Given the description of an element on the screen output the (x, y) to click on. 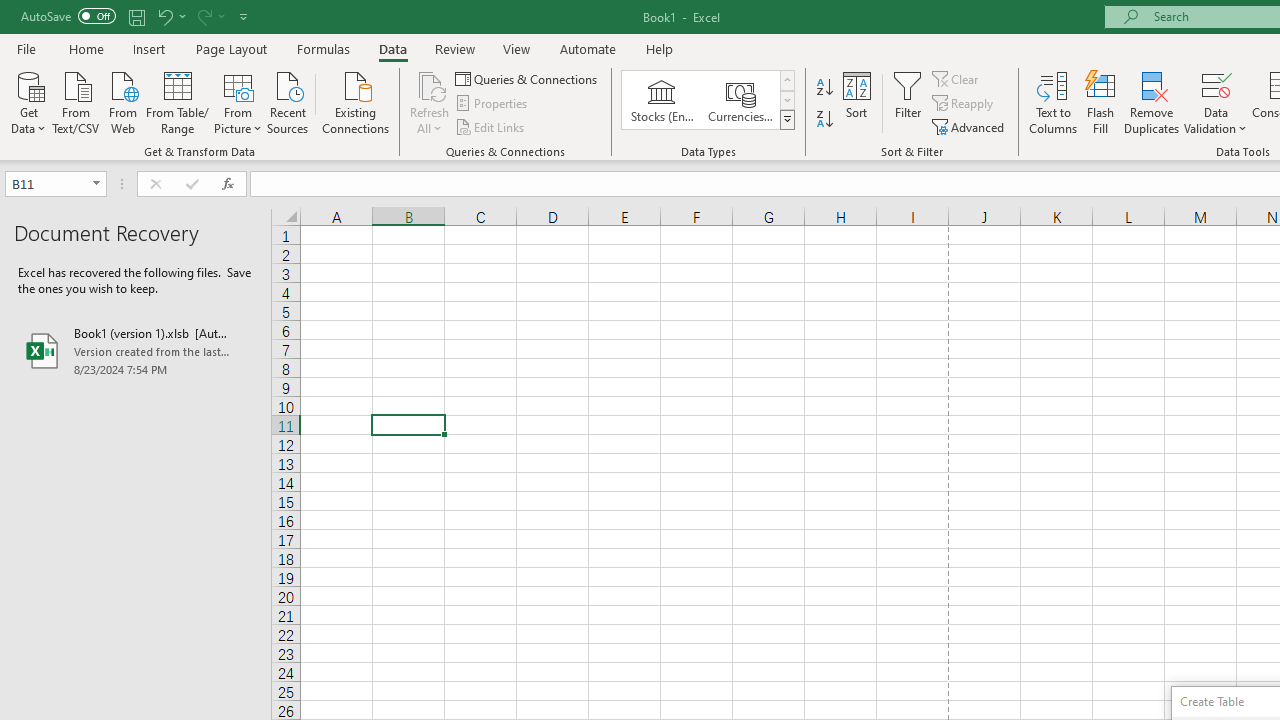
Currencies (English) (740, 100)
Sort Z to A (824, 119)
Remove Duplicates (1151, 102)
Get Data (28, 101)
